Given the description of an element on the screen output the (x, y) to click on. 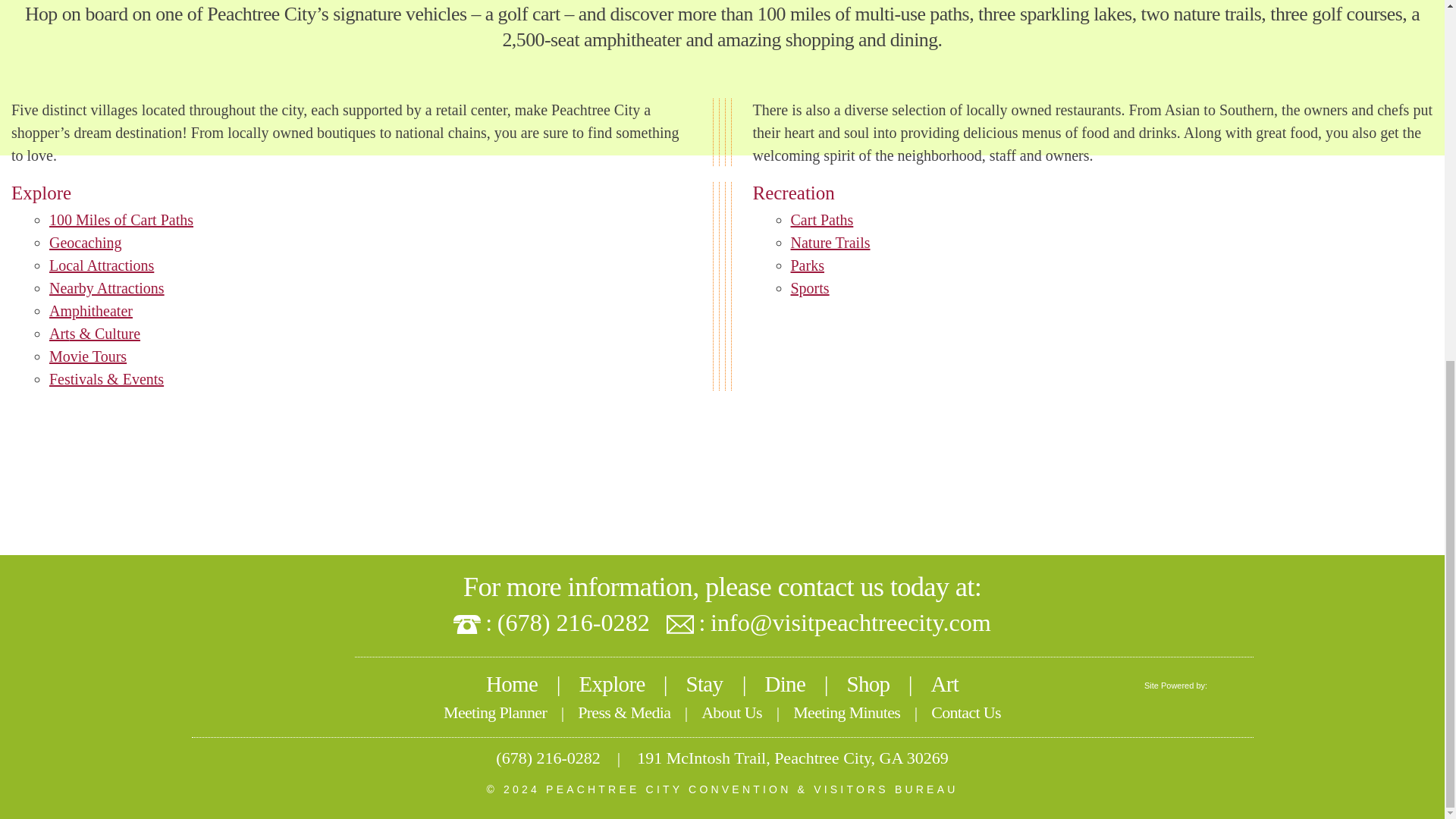
Sub Heading 2 (1092, 192)
intro paragraph (721, 27)
Right Column Paragraph (1092, 132)
Left Column List (352, 299)
Right Column List (1092, 253)
Left Column Paragraph (352, 132)
Sub Heading 1 (352, 192)
